Given the description of an element on the screen output the (x, y) to click on. 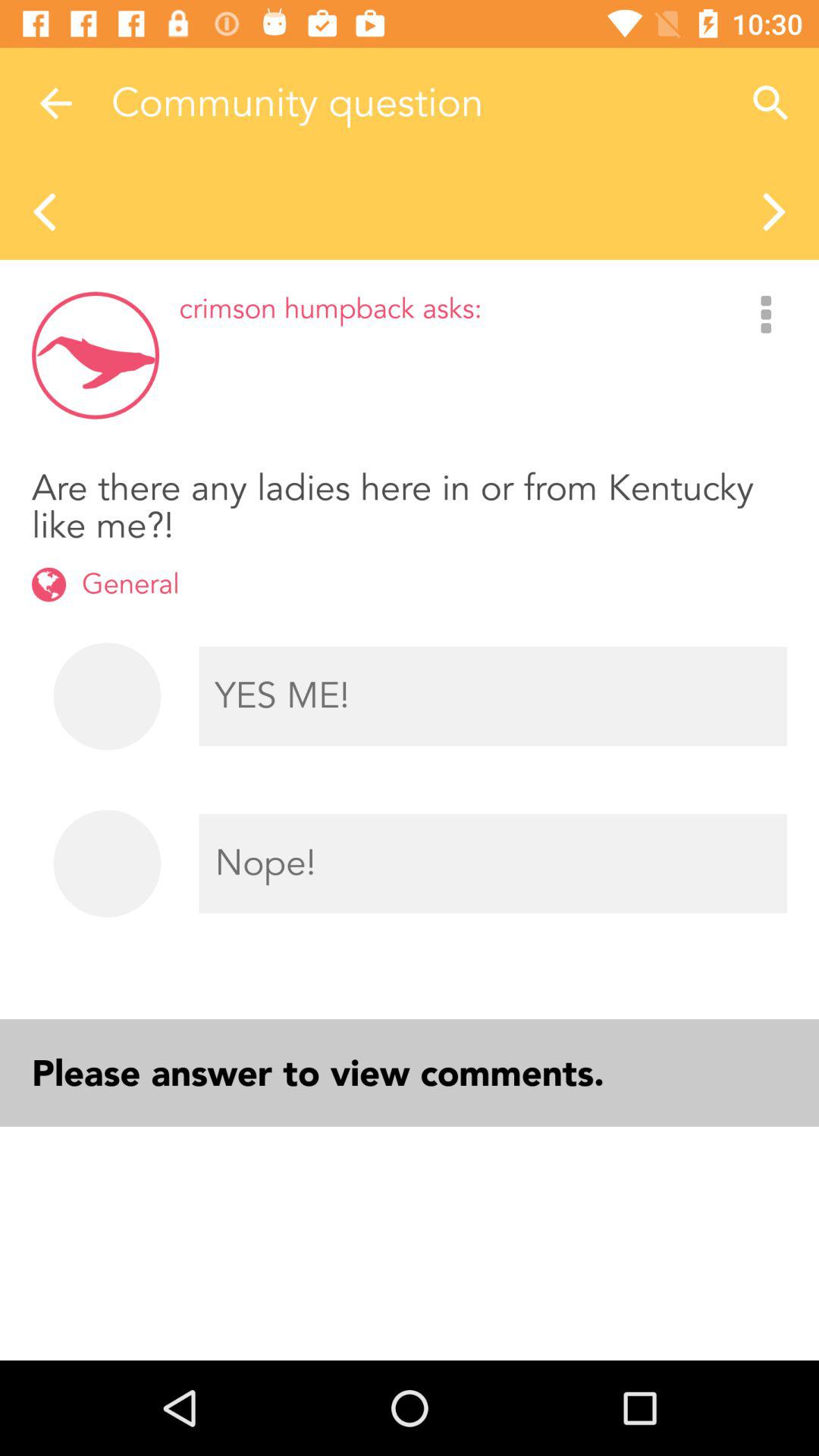
click on the three vertical dots on the right side of the web page (766, 316)
click on the next button (775, 209)
